Given the description of an element on the screen output the (x, y) to click on. 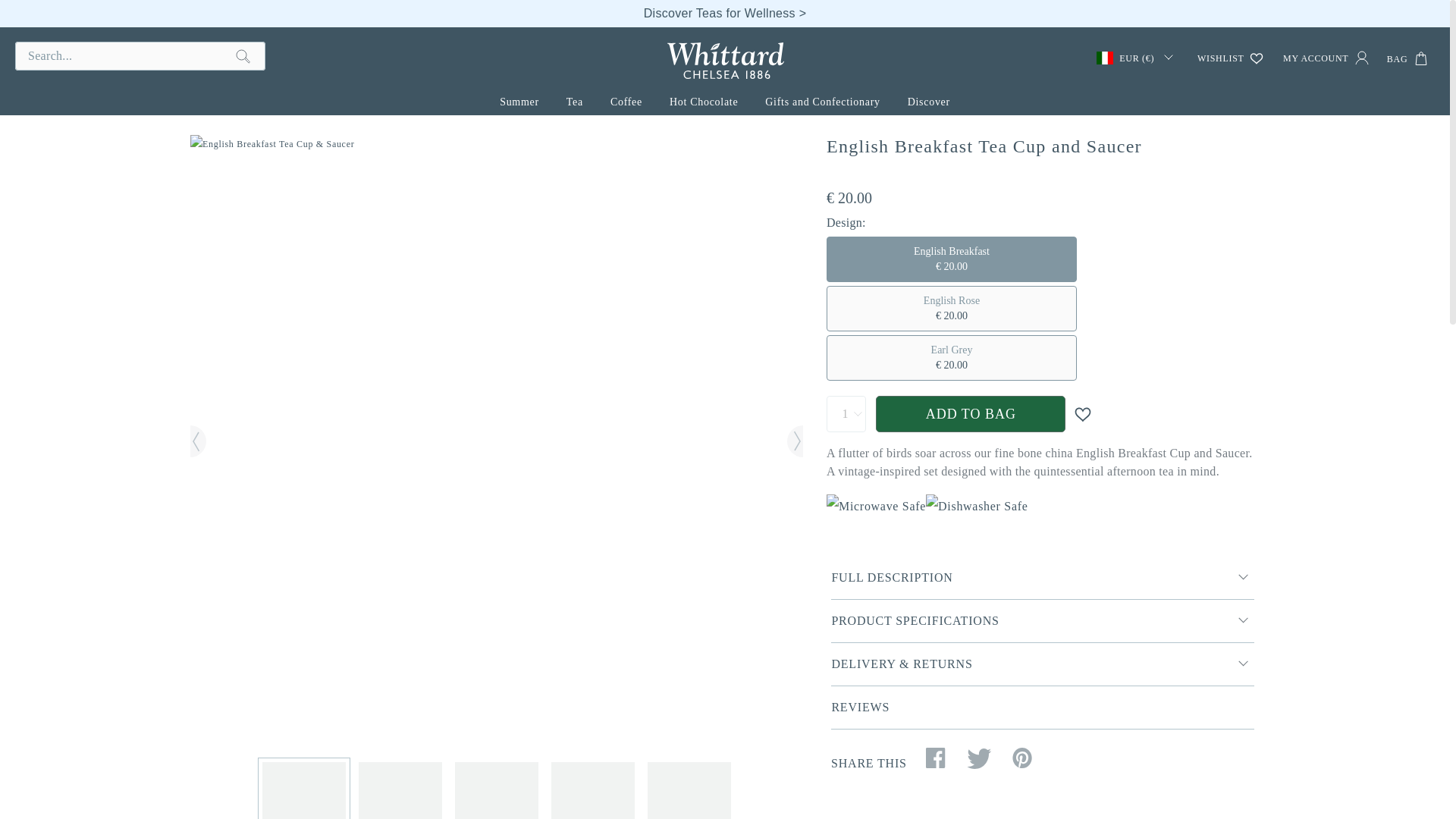
REVIEWS (1042, 707)
Whittard of Chelsea ROW (725, 59)
Summer (518, 99)
wishlist (1230, 61)
English Breakfast Tea Cup and Saucer (95, 144)
Whittard of Chelsea ROW (725, 59)
